Given the description of an element on the screen output the (x, y) to click on. 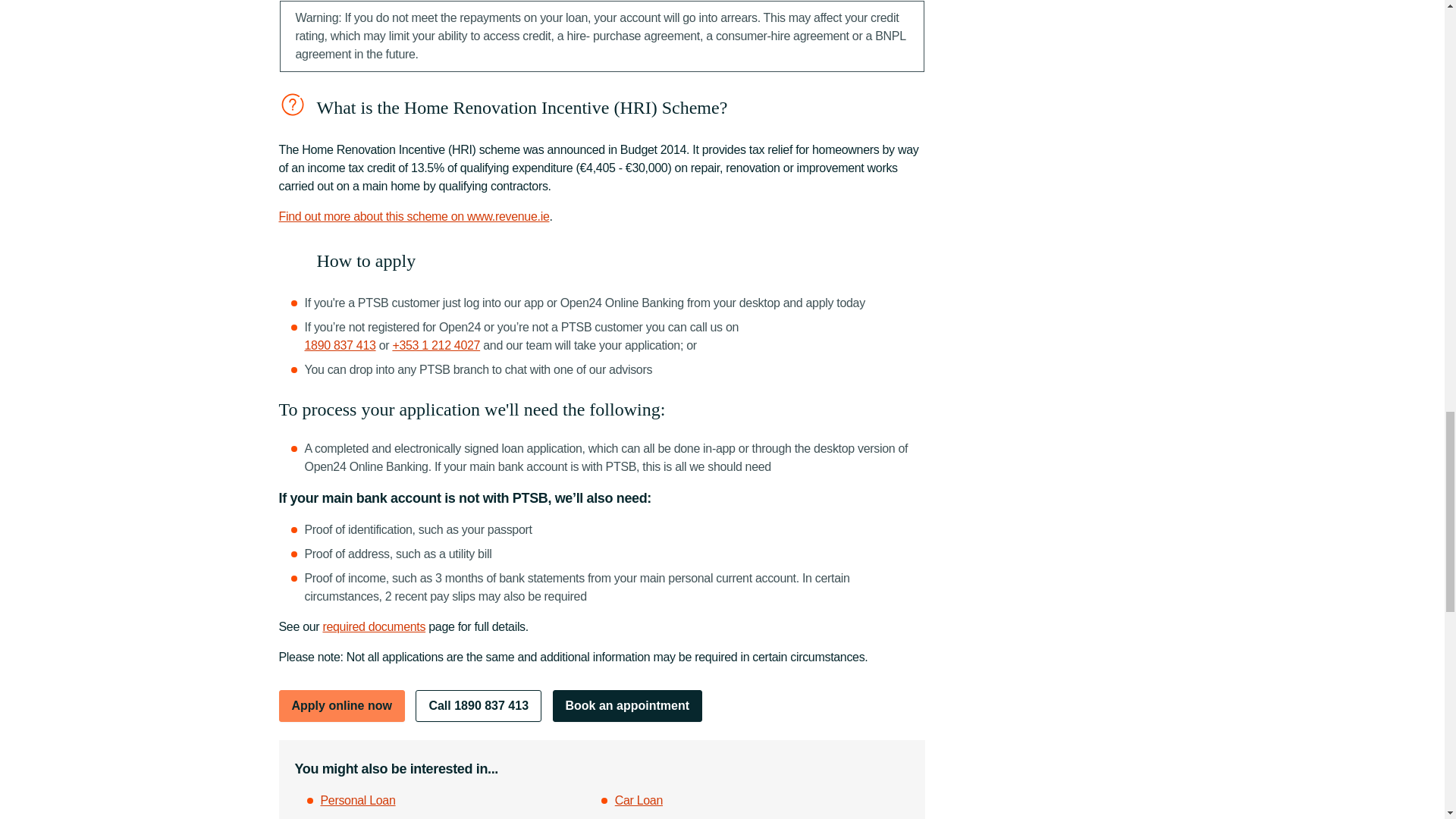
1890837413 (339, 345)
